Given the description of an element on the screen output the (x, y) to click on. 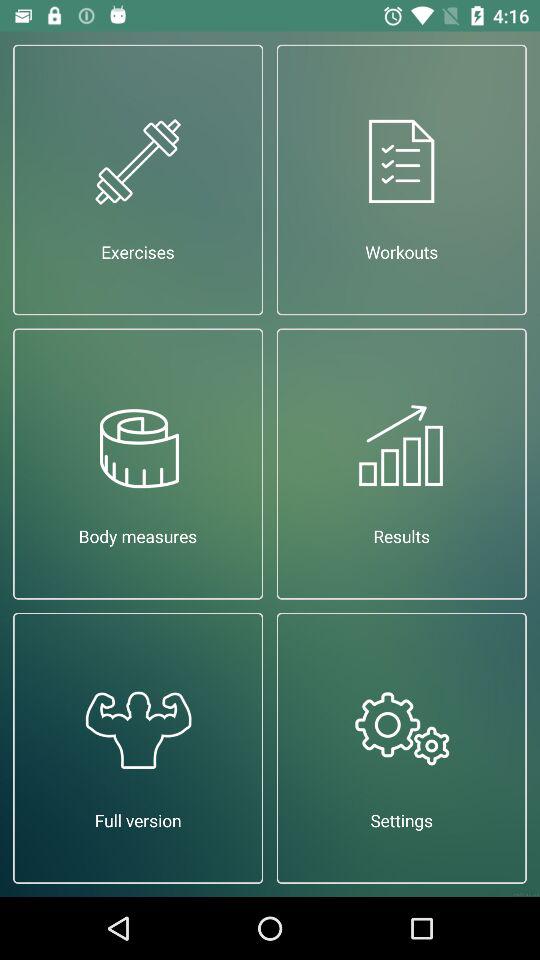
turn on icon at the bottom right corner (401, 748)
